Given the description of an element on the screen output the (x, y) to click on. 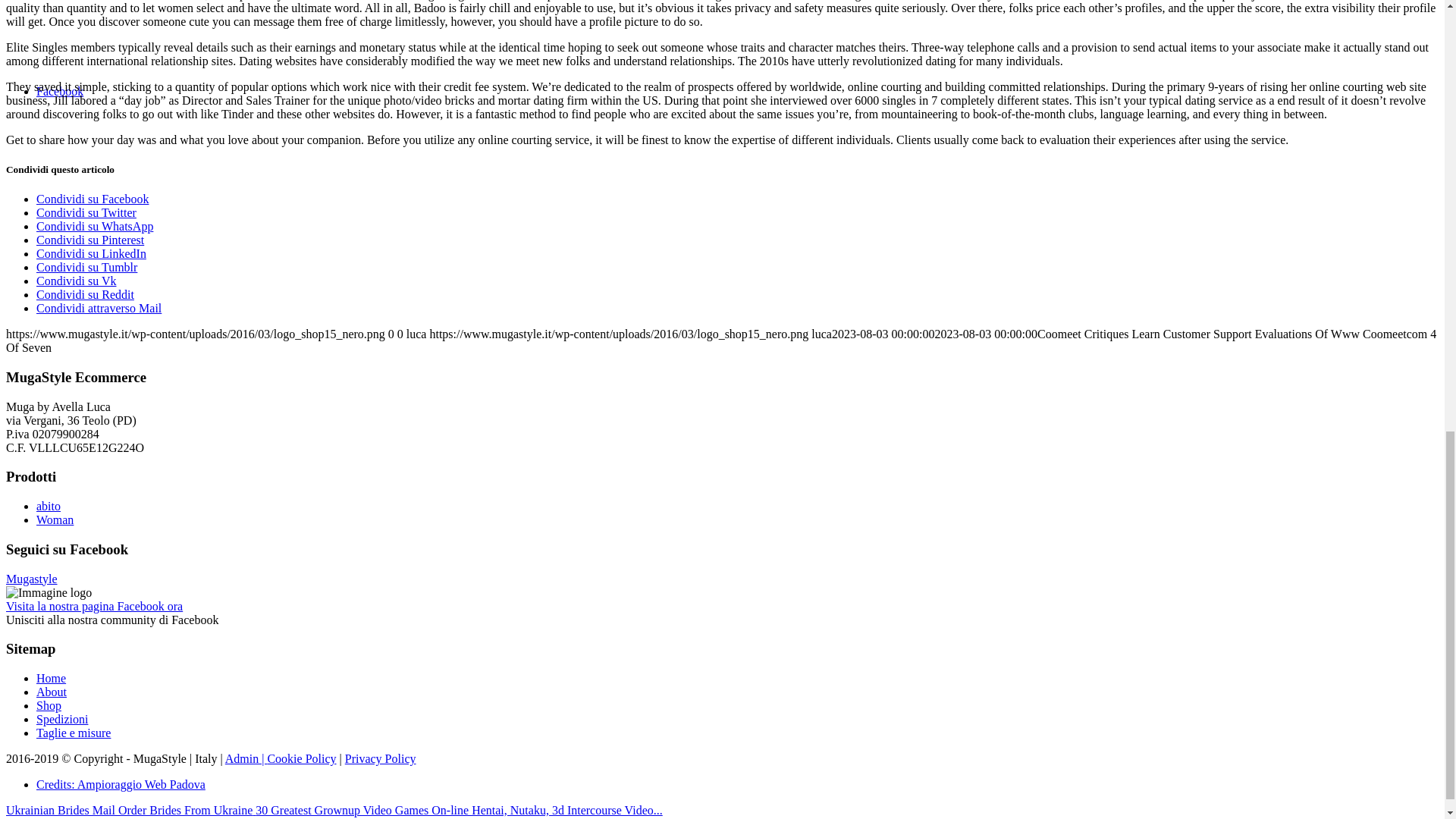
Cookie Policy (301, 758)
Mugastyle (31, 578)
Condividi su WhatsApp (94, 226)
About (51, 691)
Condividi su Reddit (84, 294)
Condividi su Vk (76, 280)
Ukrainian Brides Mail Order Brides From Ukraine (130, 809)
Taglie e misure (73, 732)
Spedizioni (61, 718)
Condividi su LinkedIn (91, 253)
Visita la nostra pagina Facebook ora (94, 605)
Condividi su Tumblr (86, 267)
Condividi attraverso Mail (98, 308)
Shop (48, 705)
Mugastyle (31, 578)
